Given the description of an element on the screen output the (x, y) to click on. 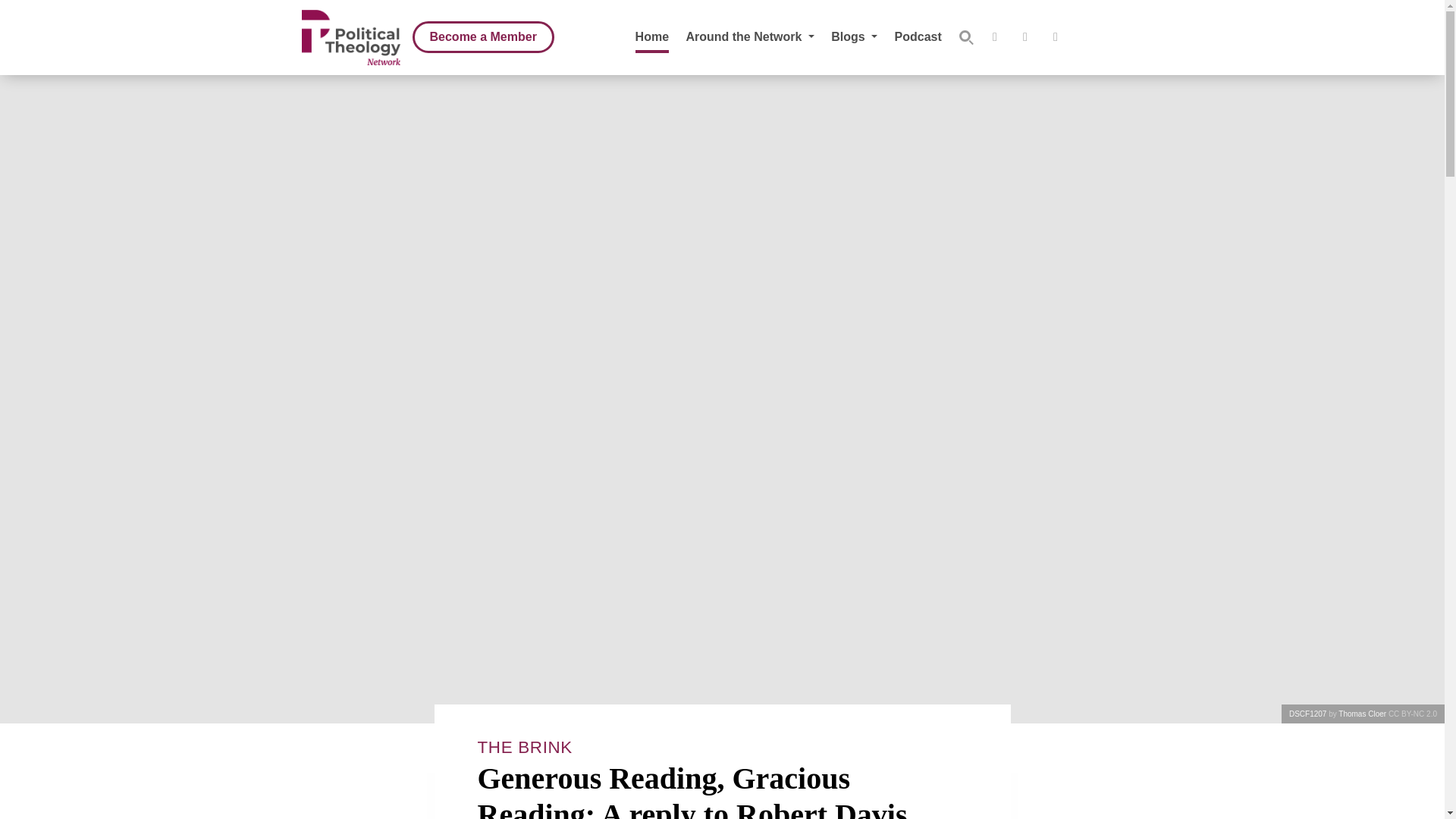
Blogs (853, 36)
THE BRINK (524, 746)
Podcast (917, 36)
Thomas Cloer (1363, 714)
Submit (965, 37)
Home (651, 36)
Around the Network (749, 36)
Blogs (853, 36)
DSCF1207 (1307, 714)
